Given the description of an element on the screen output the (x, y) to click on. 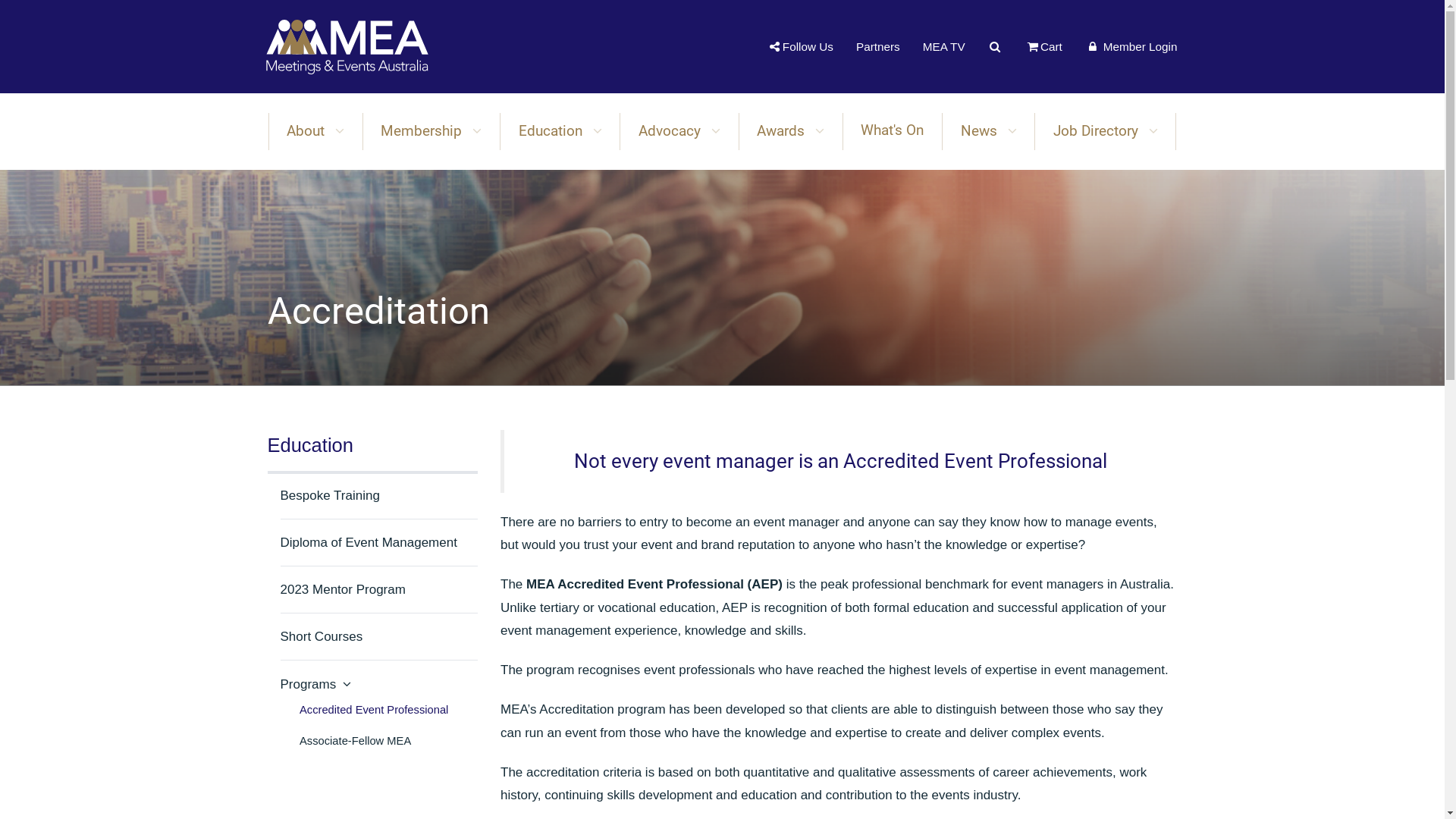
About Element type: text (315, 131)
Programs Element type: text (315, 684)
MEA TV Element type: text (943, 46)
What's On Element type: text (892, 131)
2023 Mentor Program Element type: text (342, 589)
Education Element type: text (560, 131)
Cart Element type: text (1043, 46)
Short Courses Element type: text (321, 636)
Awards Element type: text (790, 131)
News Element type: text (988, 131)
Associate-Fellow MEA Element type: text (388, 741)
Diploma of Event Management Element type: text (368, 542)
Partners Element type: text (877, 46)
Member Login Element type: text (1131, 46)
Accredited Event Professional Element type: text (388, 710)
Membership Element type: text (431, 131)
Bespoke Training Element type: text (329, 495)
Job Directory Element type: text (1105, 131)
 Follow Us Element type: text (801, 46)
Education Element type: text (371, 445)
Advocacy Element type: text (679, 131)
